Given the description of an element on the screen output the (x, y) to click on. 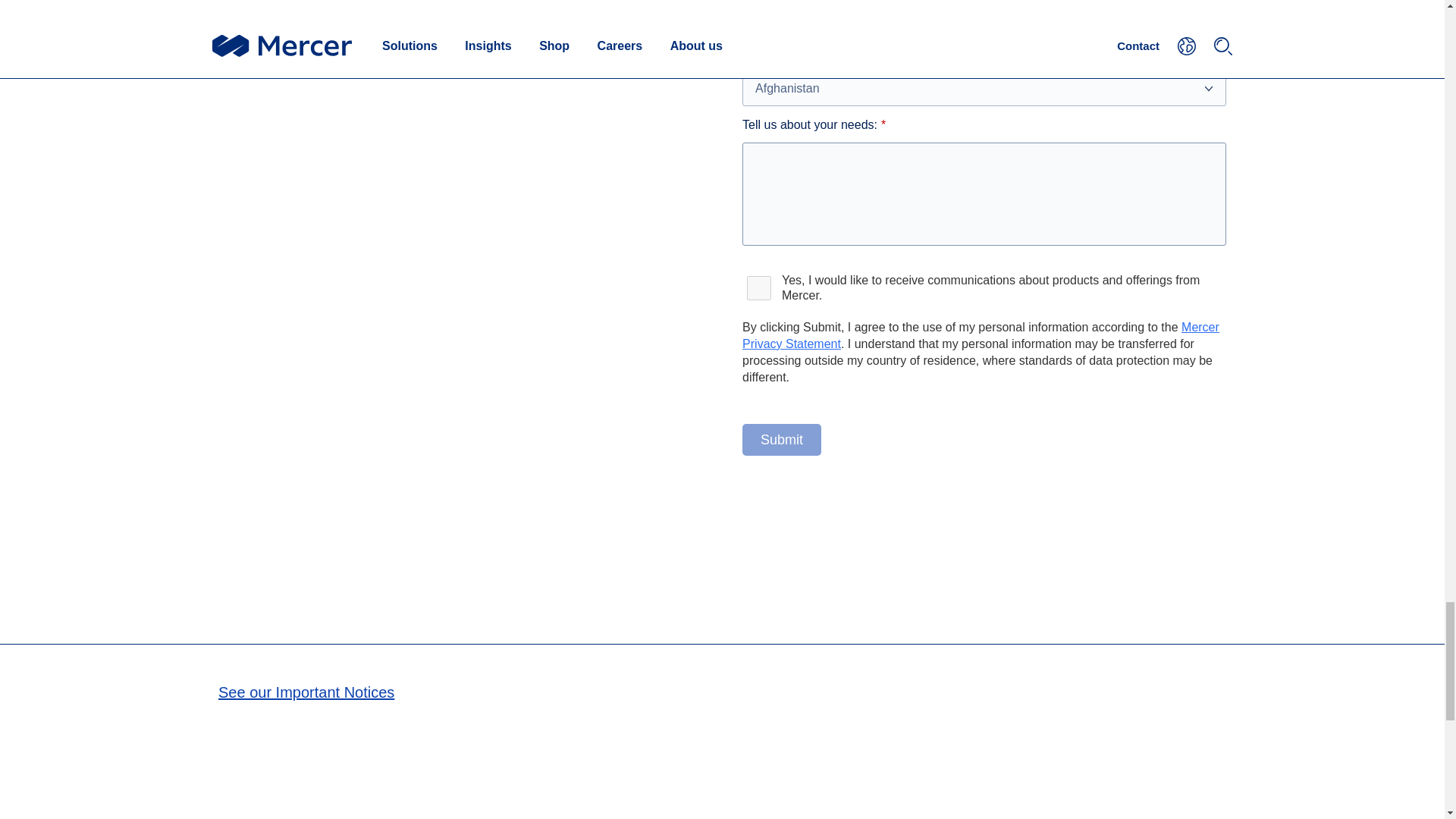
Mercer Privacy Statement (981, 335)
yes (759, 288)
Please select your work location from the dropdown list. (983, 87)
Submit (781, 439)
See our Important Notices (306, 692)
